Given the description of an element on the screen output the (x, y) to click on. 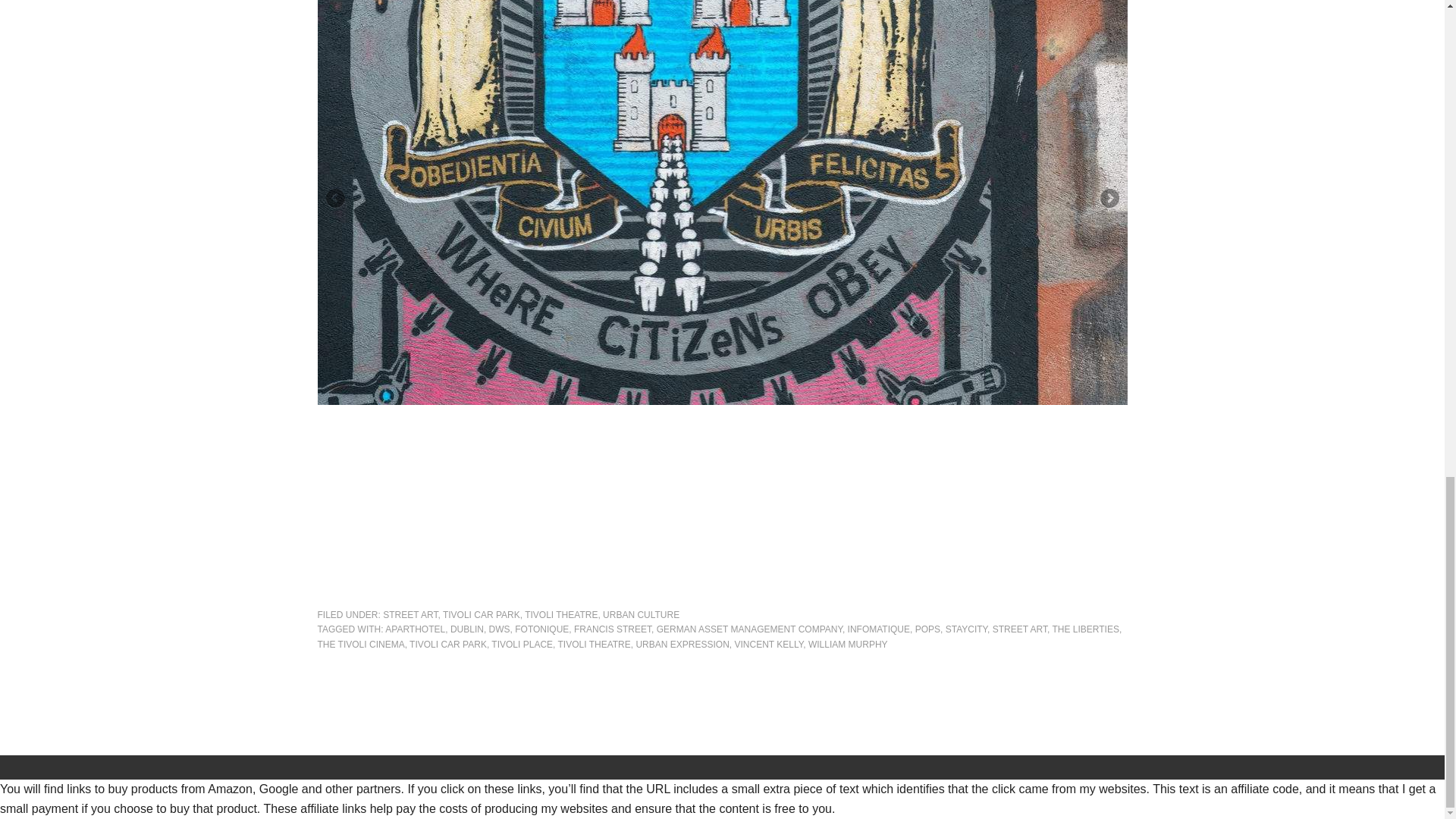
STREET ART (1019, 629)
URBAN CULTURE (640, 614)
URBAN EXPRESSION (681, 644)
VINCENT KELLY (768, 644)
THE TIVOLI CINEMA (360, 644)
STREET ART (410, 614)
FOTONIQUE (542, 629)
DUBLIN (466, 629)
THE LIBERTIES (1084, 629)
TIVOLI THEATRE (593, 644)
GERMAN ASSET MANAGEMENT COMPANY (749, 629)
Previous (335, 199)
WILLIAM MURPHY (848, 644)
STAYCITY (965, 629)
FRANCIS STREET (611, 629)
